Given the description of an element on the screen output the (x, y) to click on. 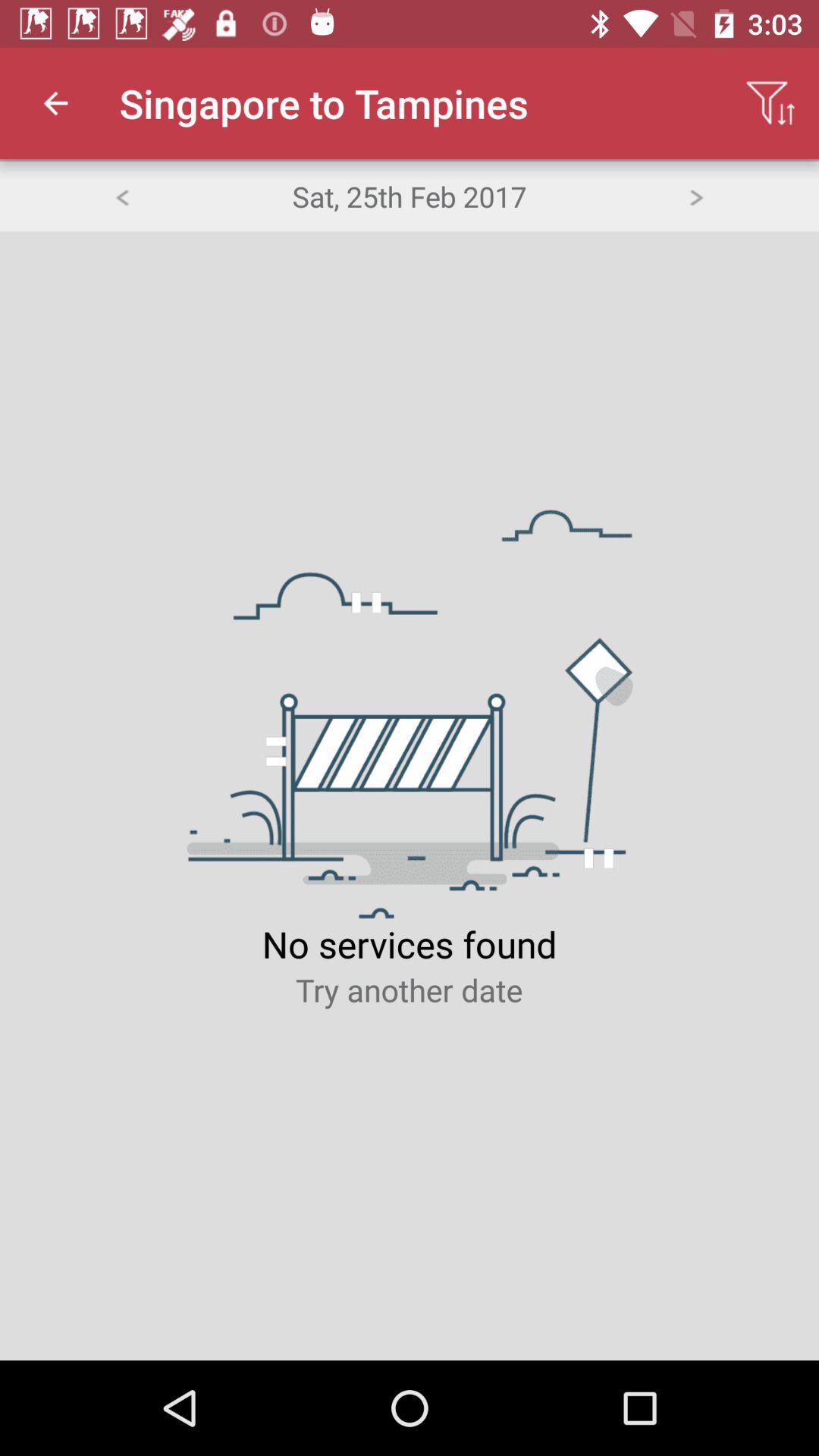
tap item next to the sat 25th feb (696, 196)
